Given the description of an element on the screen output the (x, y) to click on. 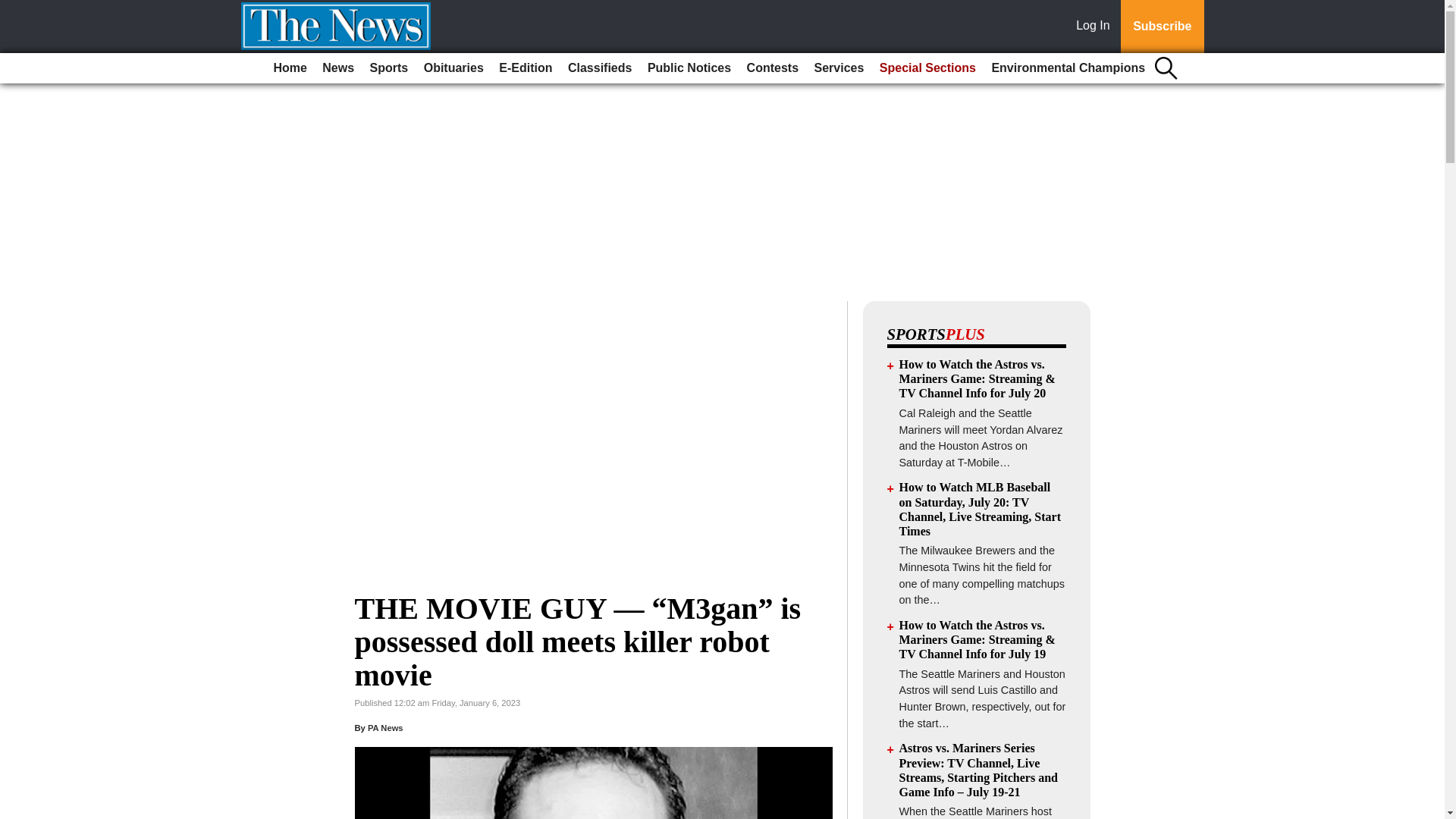
Environmental Champions (1068, 68)
Classifieds (599, 68)
E-Edition (525, 68)
Sports (389, 68)
PA News (385, 727)
Log In (1095, 26)
Subscribe (1162, 26)
Obituaries (453, 68)
Services (839, 68)
News (337, 68)
Home (289, 68)
Special Sections (927, 68)
Contests (773, 68)
Public Notices (689, 68)
